Given the description of an element on the screen output the (x, y) to click on. 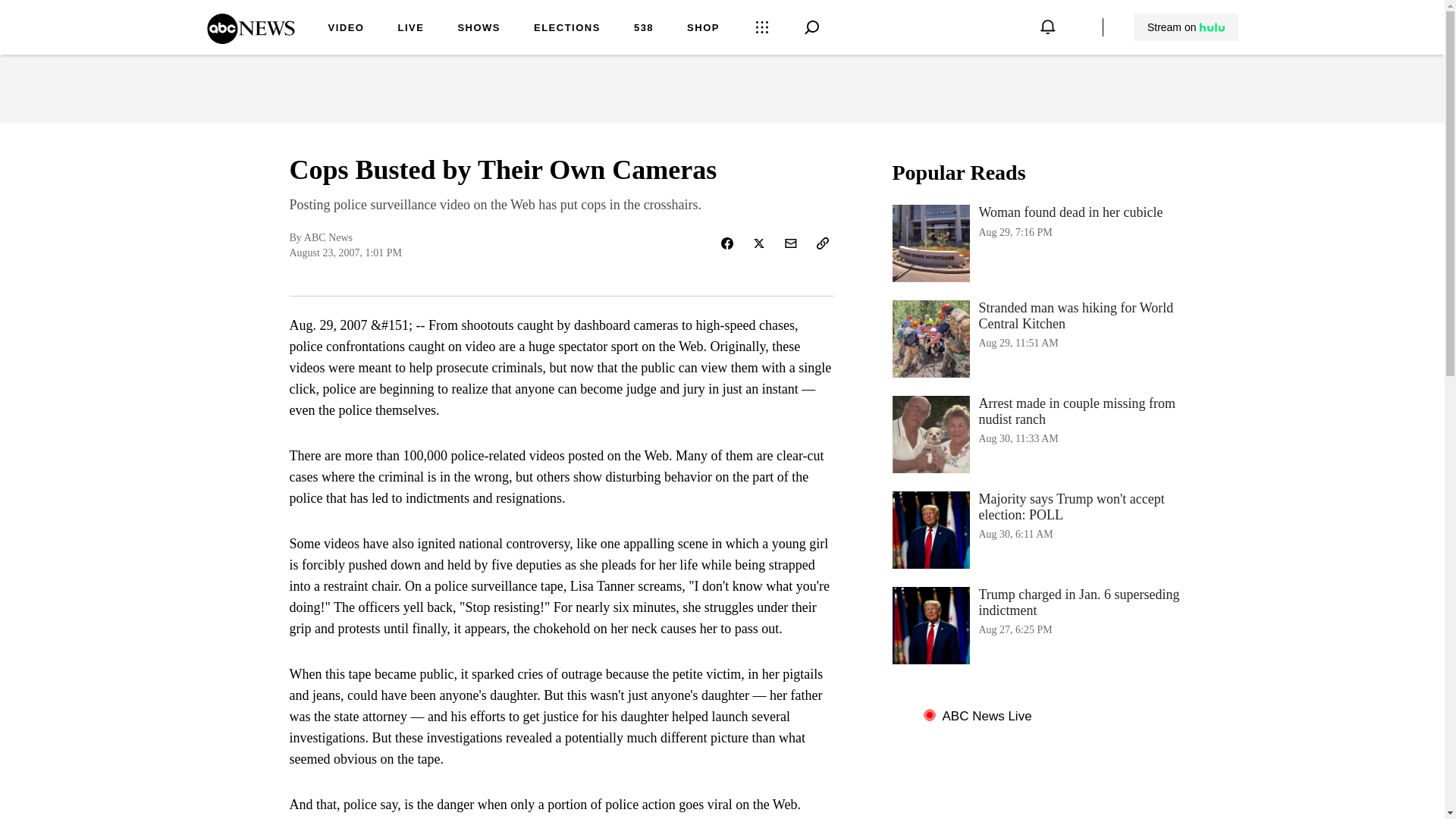
538 (643, 28)
SHOP (703, 28)
VIDEO (345, 28)
Stream on (1186, 26)
ABC News (250, 38)
ELECTIONS (566, 28)
Stream on (1043, 242)
